Given the description of an element on the screen output the (x, y) to click on. 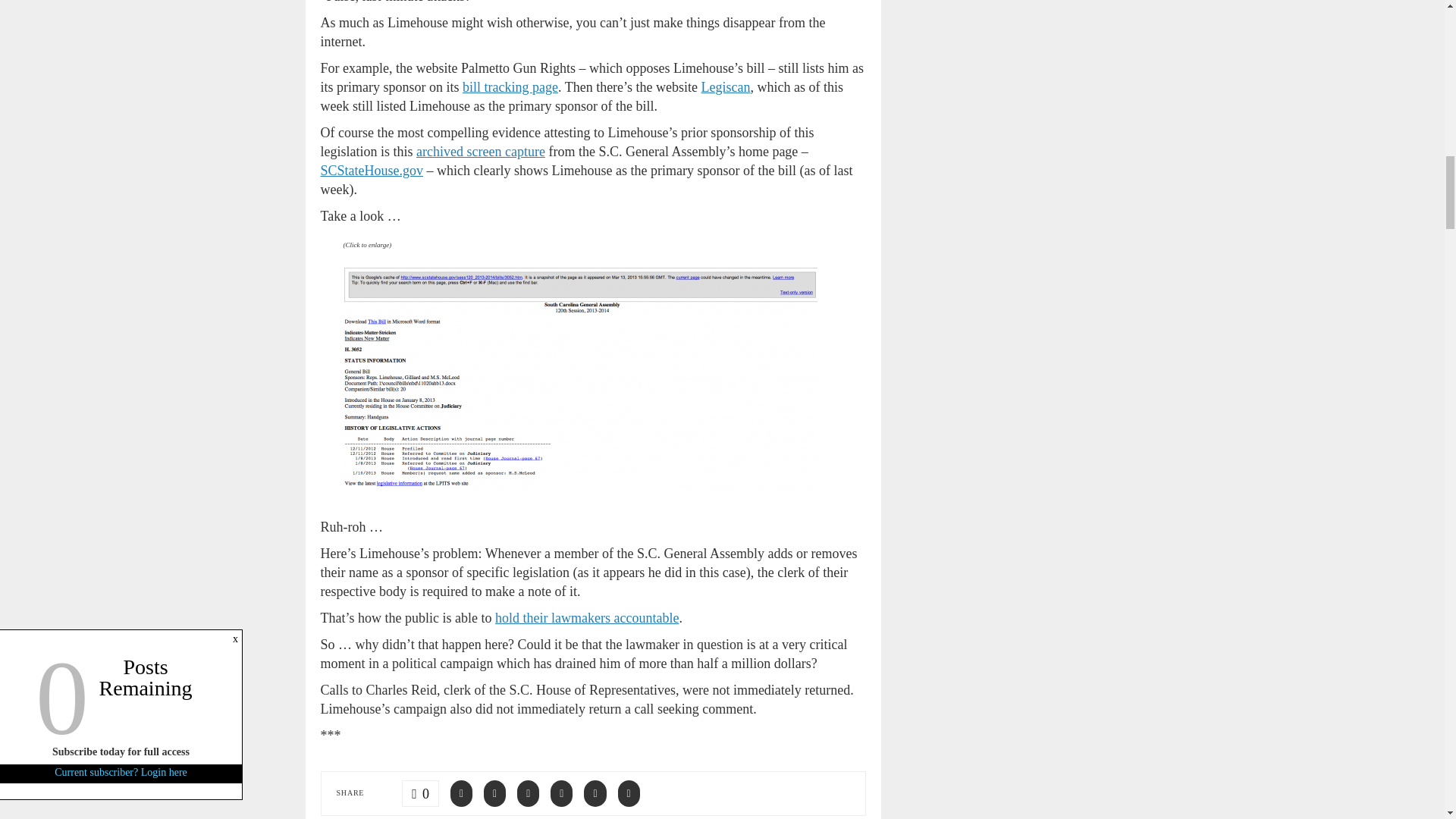
Like (420, 792)
